Given the description of an element on the screen output the (x, y) to click on. 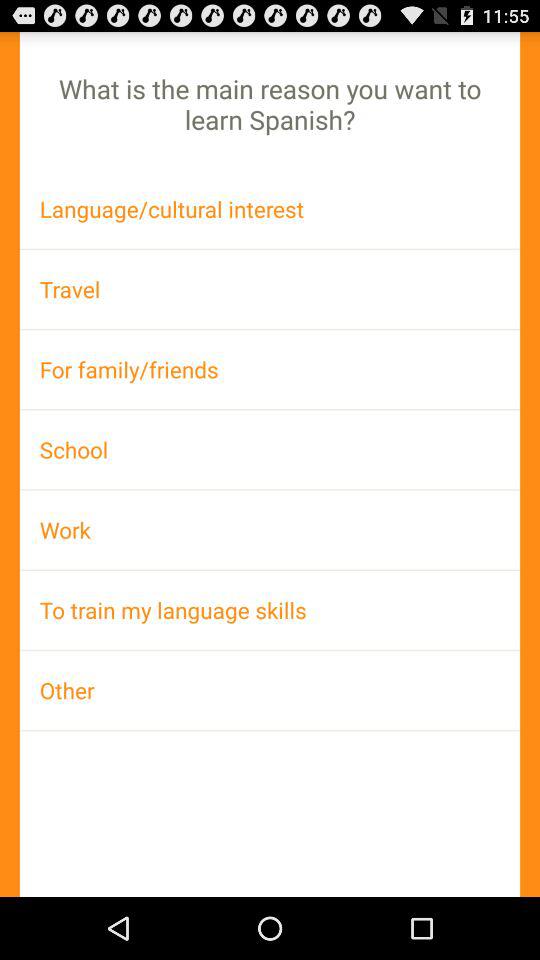
open other at the bottom (269, 690)
